Given the description of an element on the screen output the (x, y) to click on. 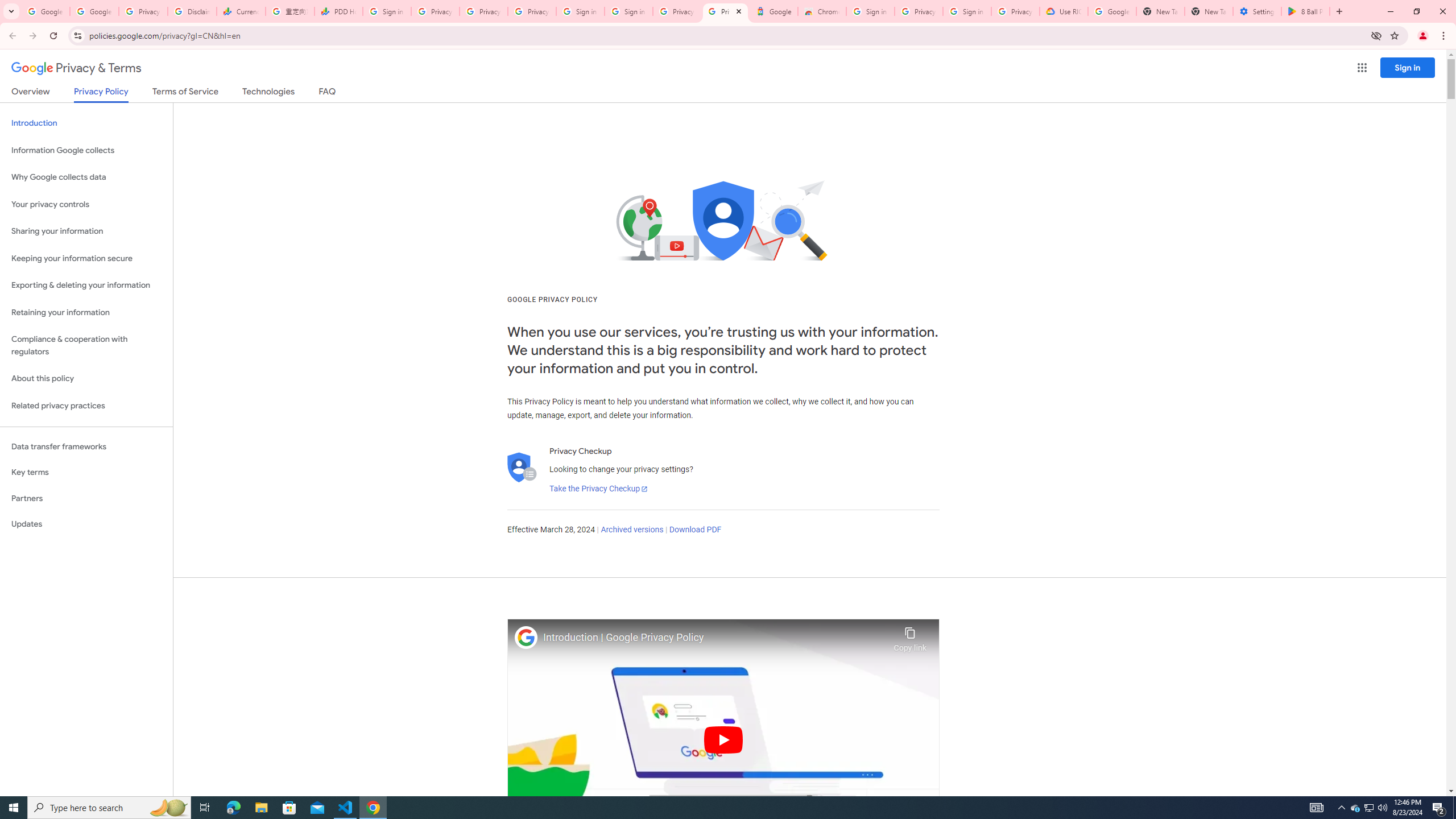
Currencies - Google Finance (240, 11)
Photo image of Google (526, 636)
Sign in - Google Accounts (870, 11)
Related privacy practices (86, 405)
